Given the description of an element on the screen output the (x, y) to click on. 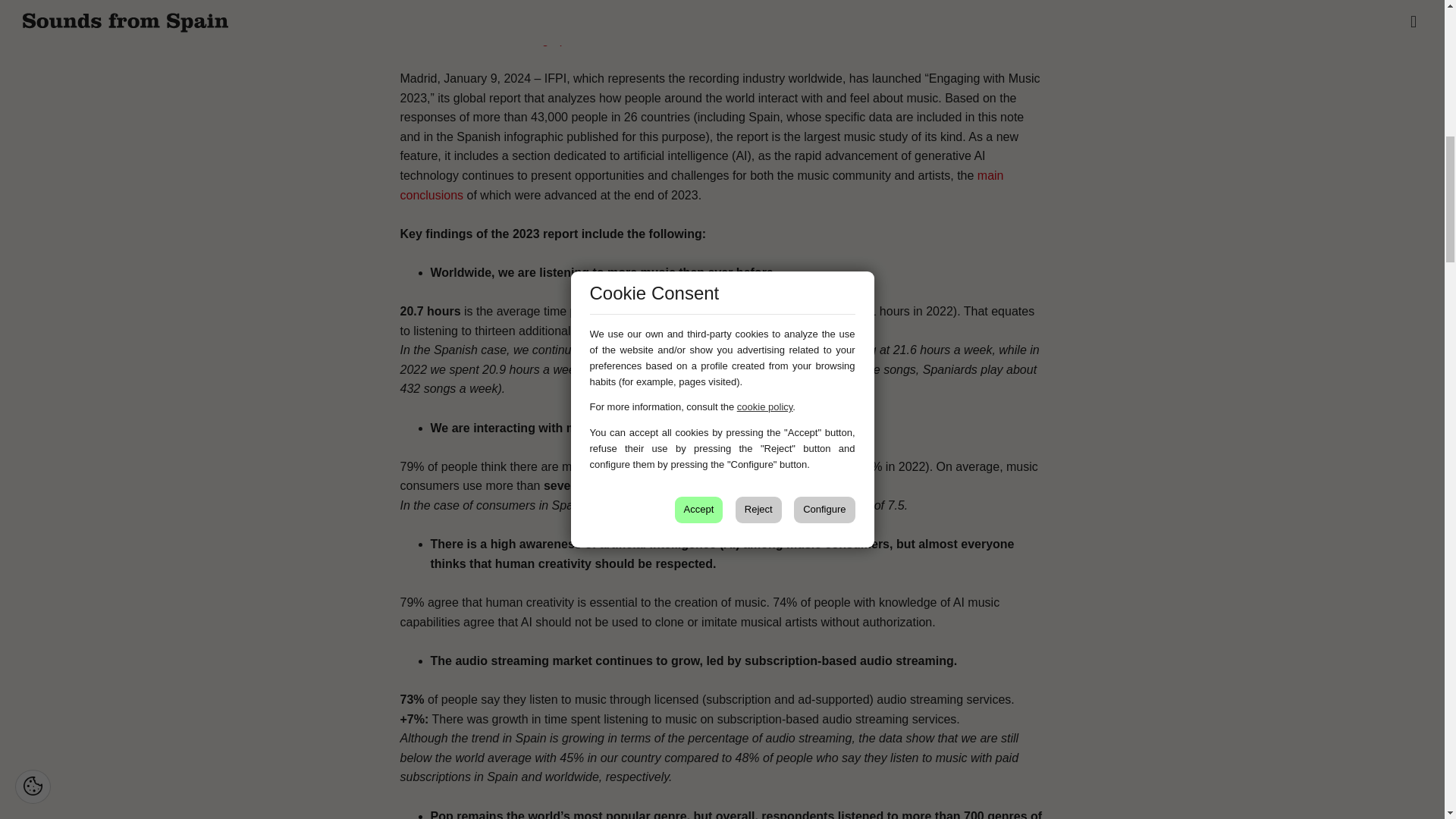
infographics in this link (583, 39)
main conclusions (702, 184)
full report at this link (576, 19)
